Given the description of an element on the screen output the (x, y) to click on. 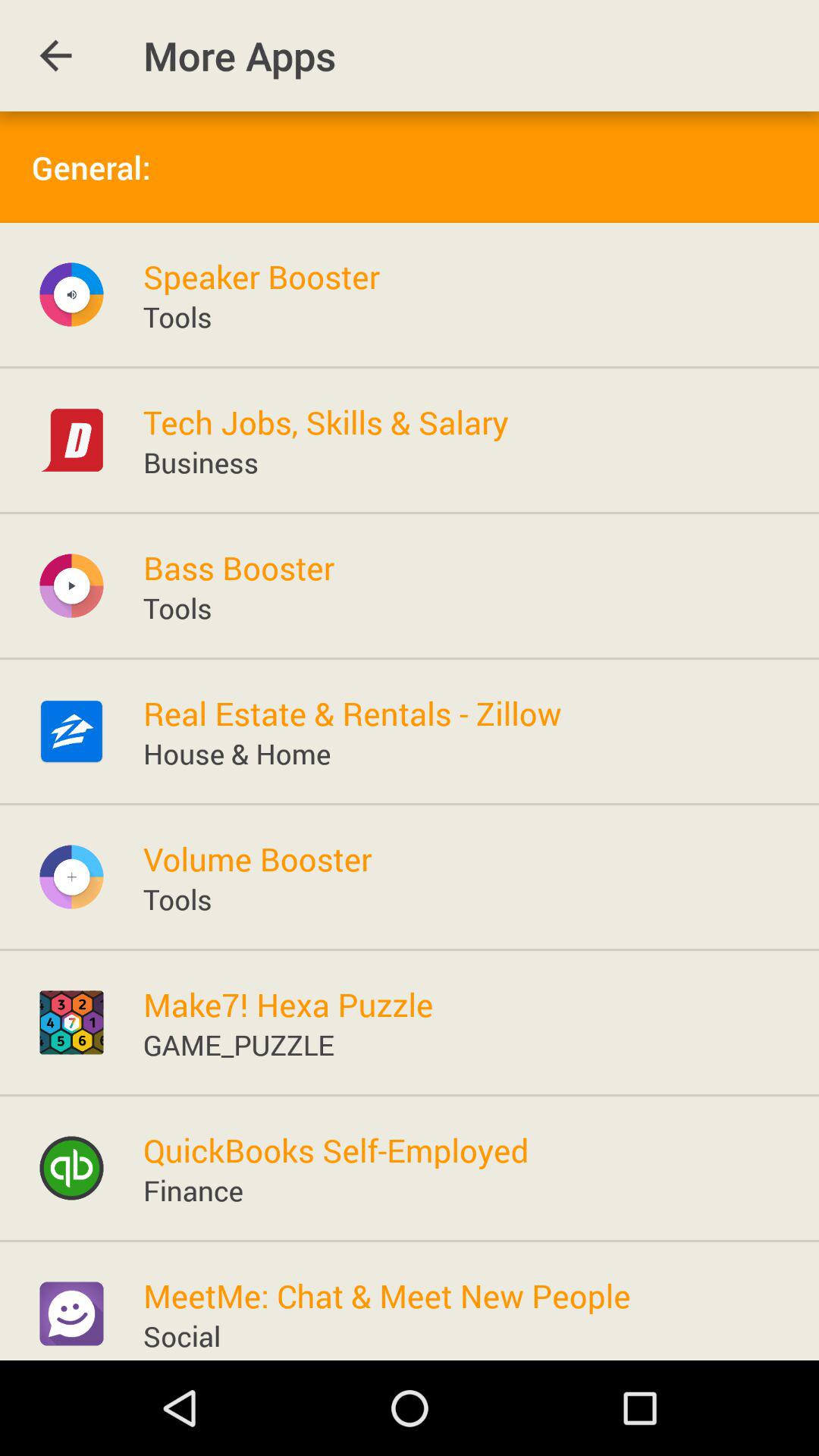
jump until the make7! hexa puzzle item (288, 1004)
